Given the description of an element on the screen output the (x, y) to click on. 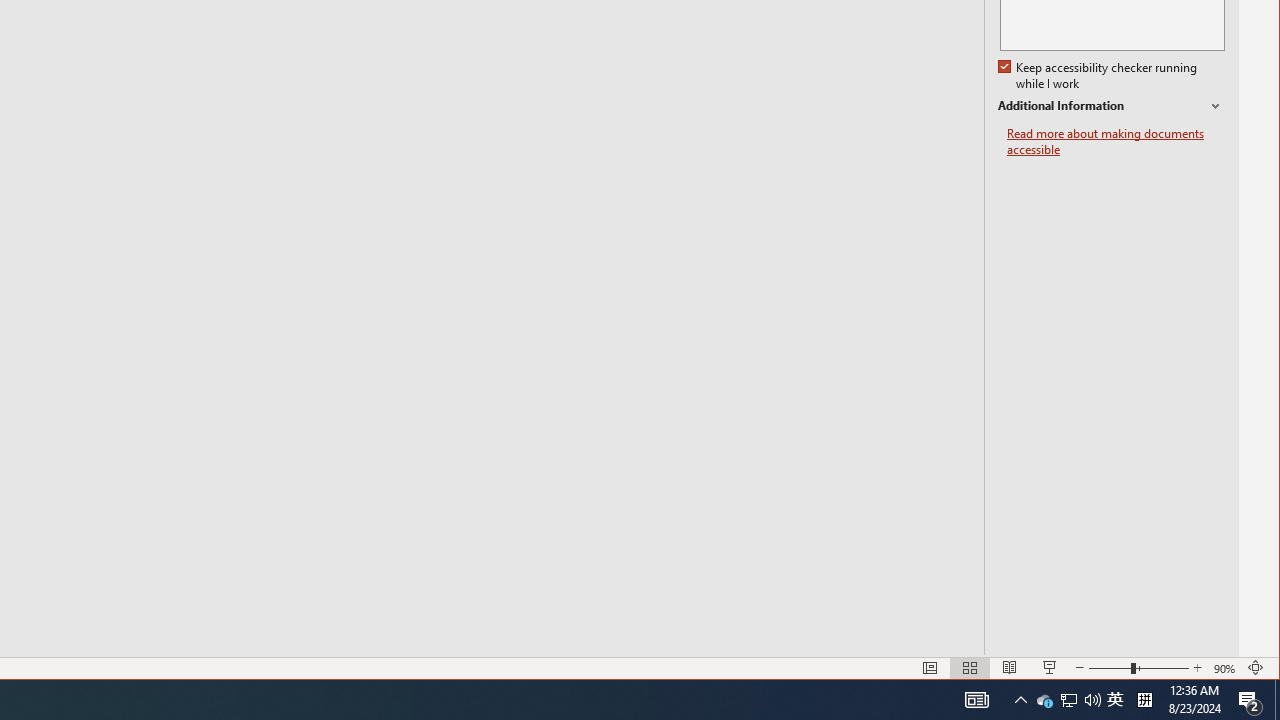
Slide Sorter (969, 668)
Keep accessibility checker running while I work (1099, 76)
Reading View (1009, 668)
Notification Chevron (1020, 699)
Zoom In (1198, 668)
Action Center, 2 new notifications (1115, 699)
Zoom Out (1250, 699)
Tray Input Indicator - Chinese (Simplified, China) (1110, 668)
Zoom 90% (1144, 699)
Zoom to Fit  (1225, 668)
Read more about making documents accessible (1256, 668)
Slide Show (1115, 142)
Zoom (1050, 668)
